Given the description of an element on the screen output the (x, y) to click on. 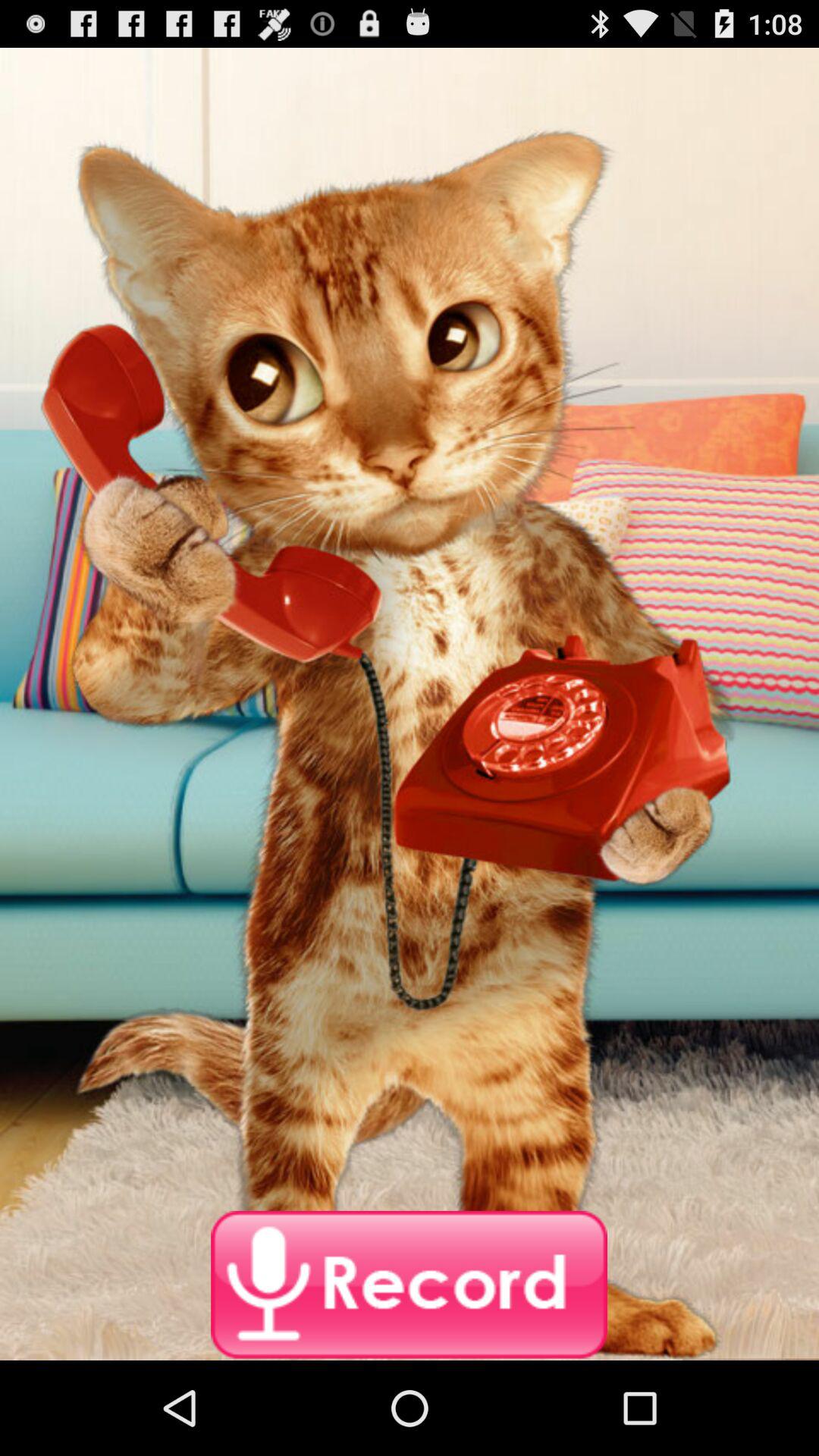
record (409, 1285)
